Given the description of an element on the screen output the (x, y) to click on. 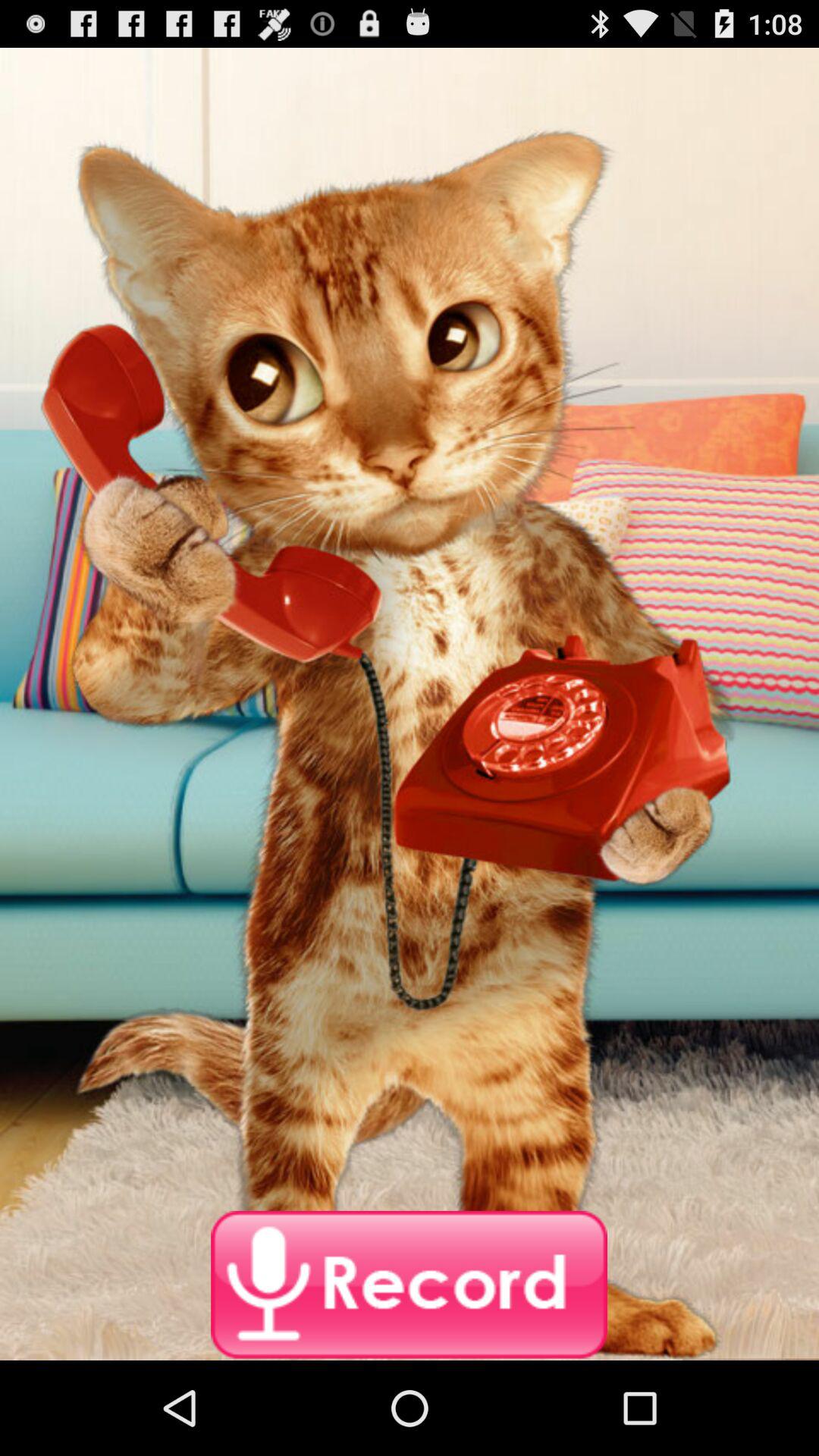
record (409, 1285)
